Given the description of an element on the screen output the (x, y) to click on. 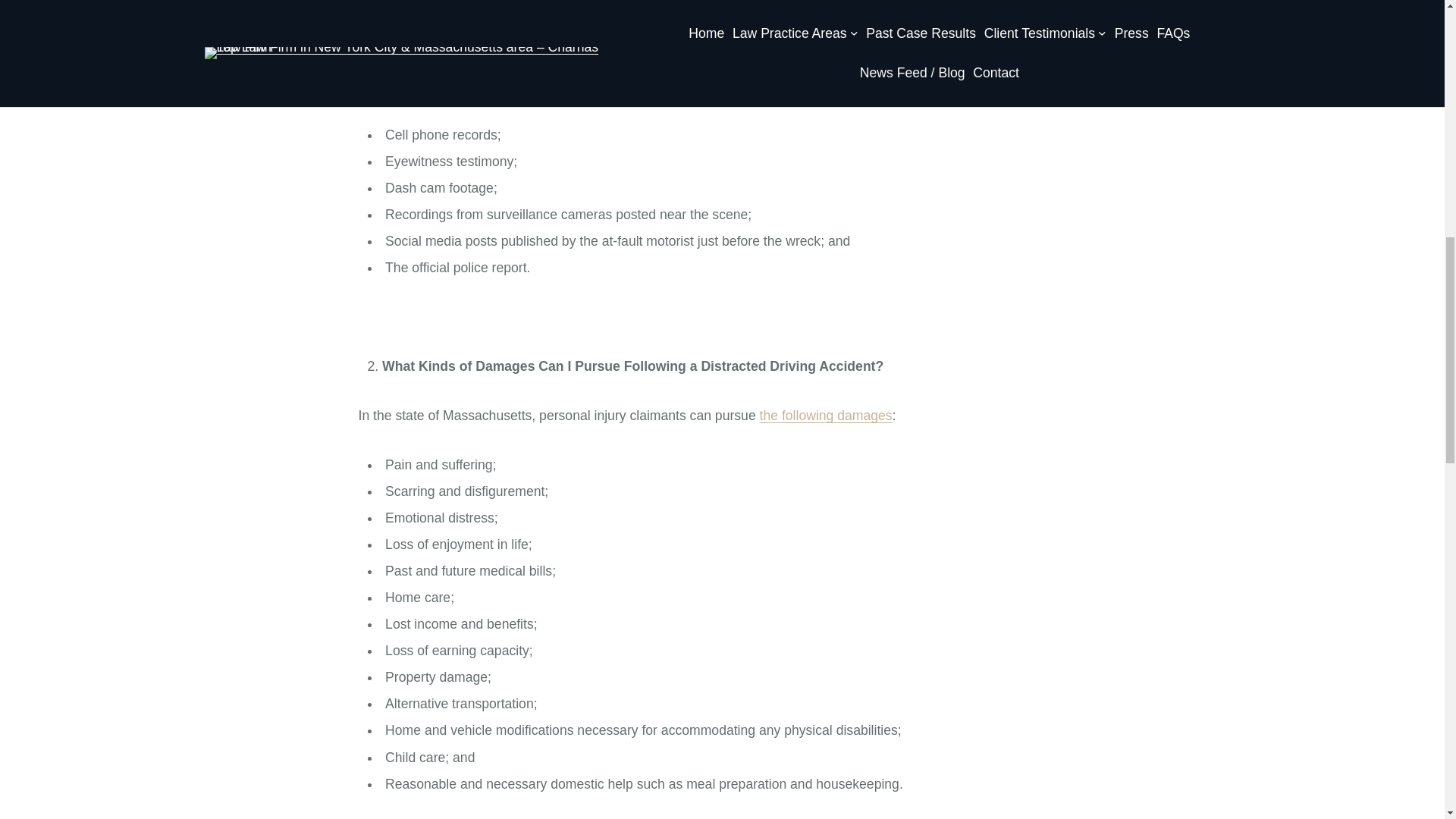
the following damages (826, 415)
